Given the description of an element on the screen output the (x, y) to click on. 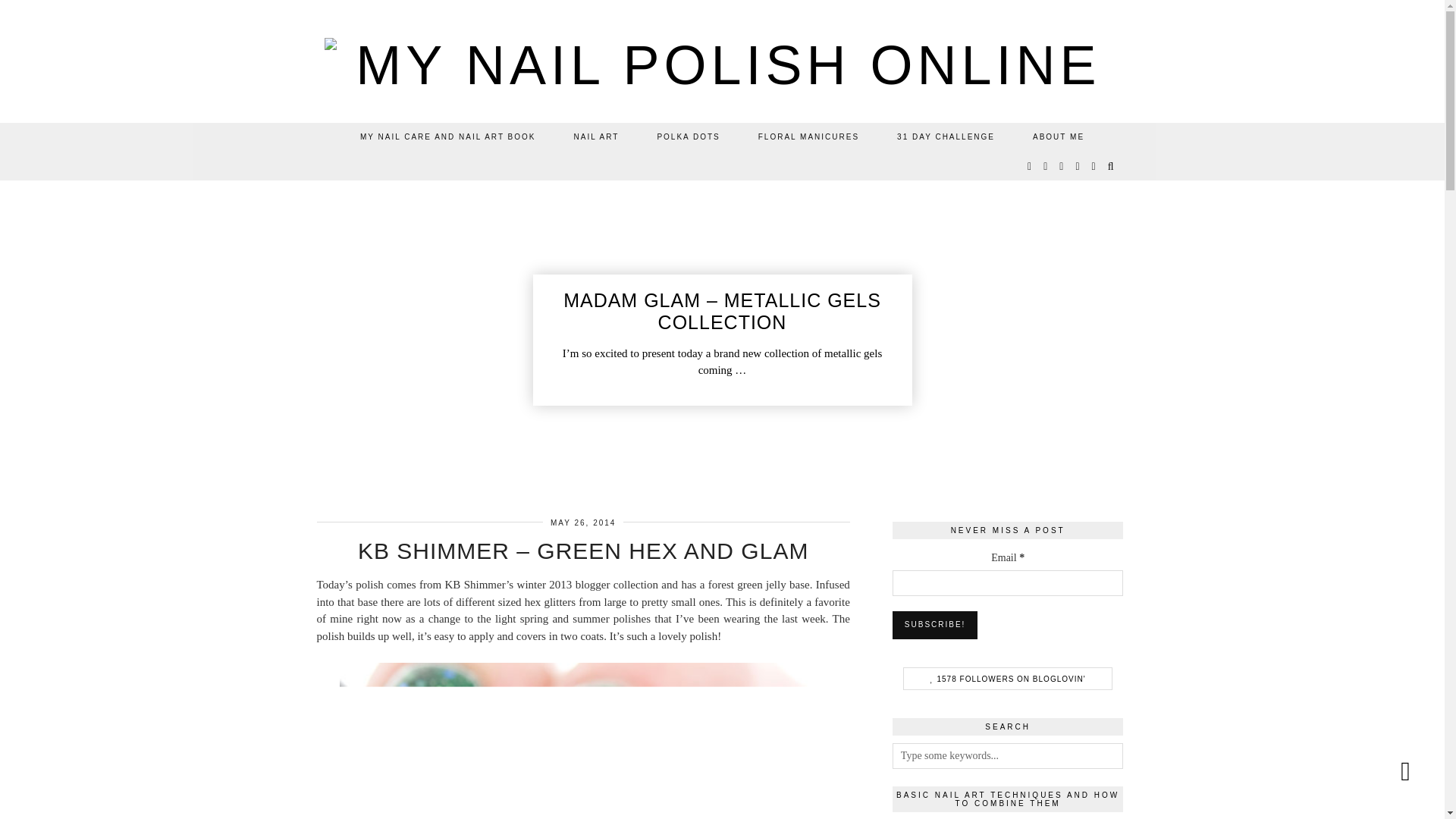
POLKA DOTS (687, 136)
NAIL ART (596, 136)
FLORAL MANICURES (808, 136)
ABOUT ME (1058, 136)
Email (1008, 583)
Subscribe! (935, 624)
My Nail Polish Online (722, 64)
MY NAIL CARE AND NAIL ART BOOK (447, 136)
31 DAY CHALLENGE (945, 136)
